Given the description of an element on the screen output the (x, y) to click on. 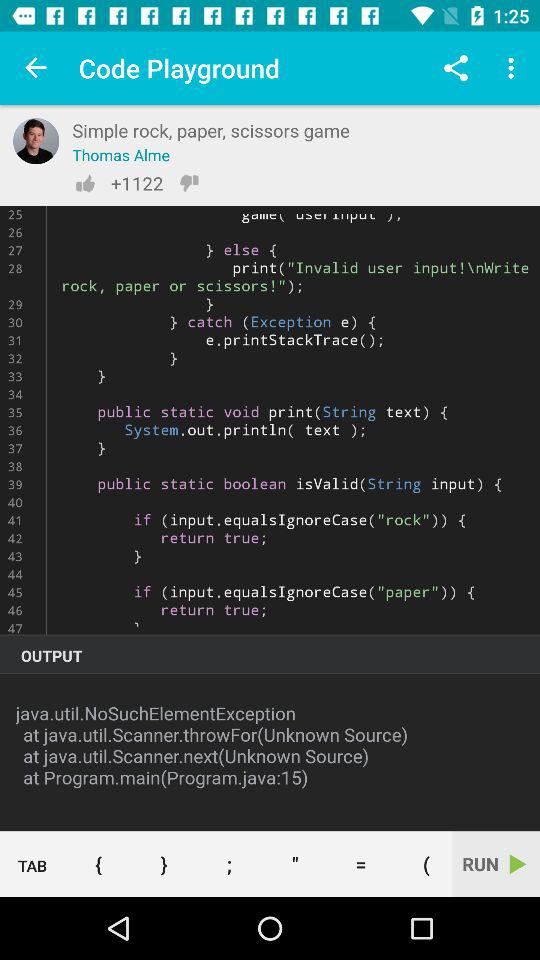
click on semicolon button (229, 863)
click on mini image at the top left corner (35, 141)
click on  which is at the bottom of the page (164, 863)
click on the symbol left of equal too (294, 863)
click on the button at the top right corner of the page (514, 68)
